Given the description of an element on the screen output the (x, y) to click on. 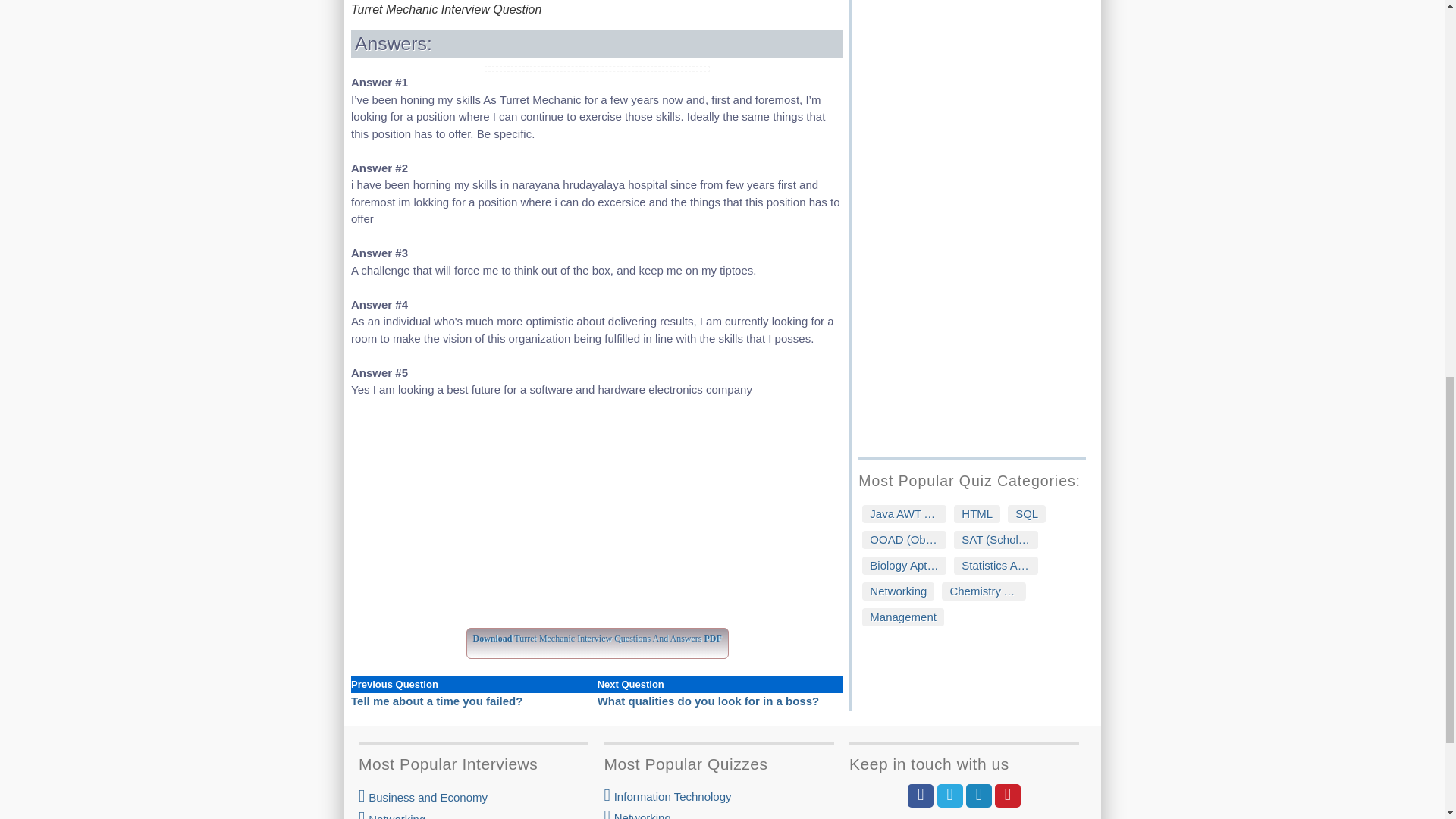
Advertisement (596, 521)
Tell me about a time you failed? (436, 700)
Download Turret Mechanic Interview Questions And Answers PDF (597, 635)
What qualities do you look for in a boss? (707, 700)
